Given the description of an element on the screen output the (x, y) to click on. 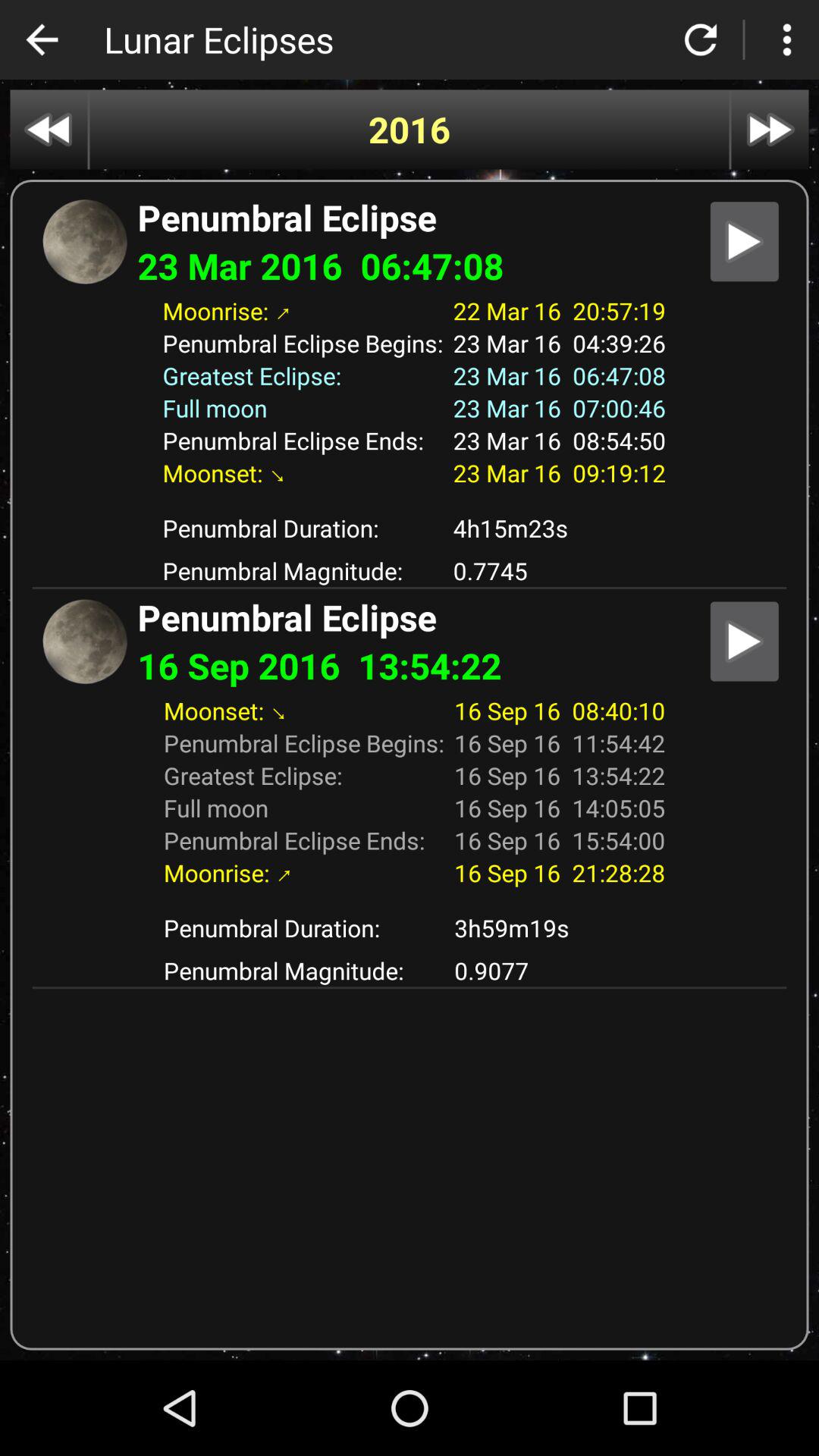
turn on 3h59m19s item (559, 927)
